Given the description of an element on the screen output the (x, y) to click on. 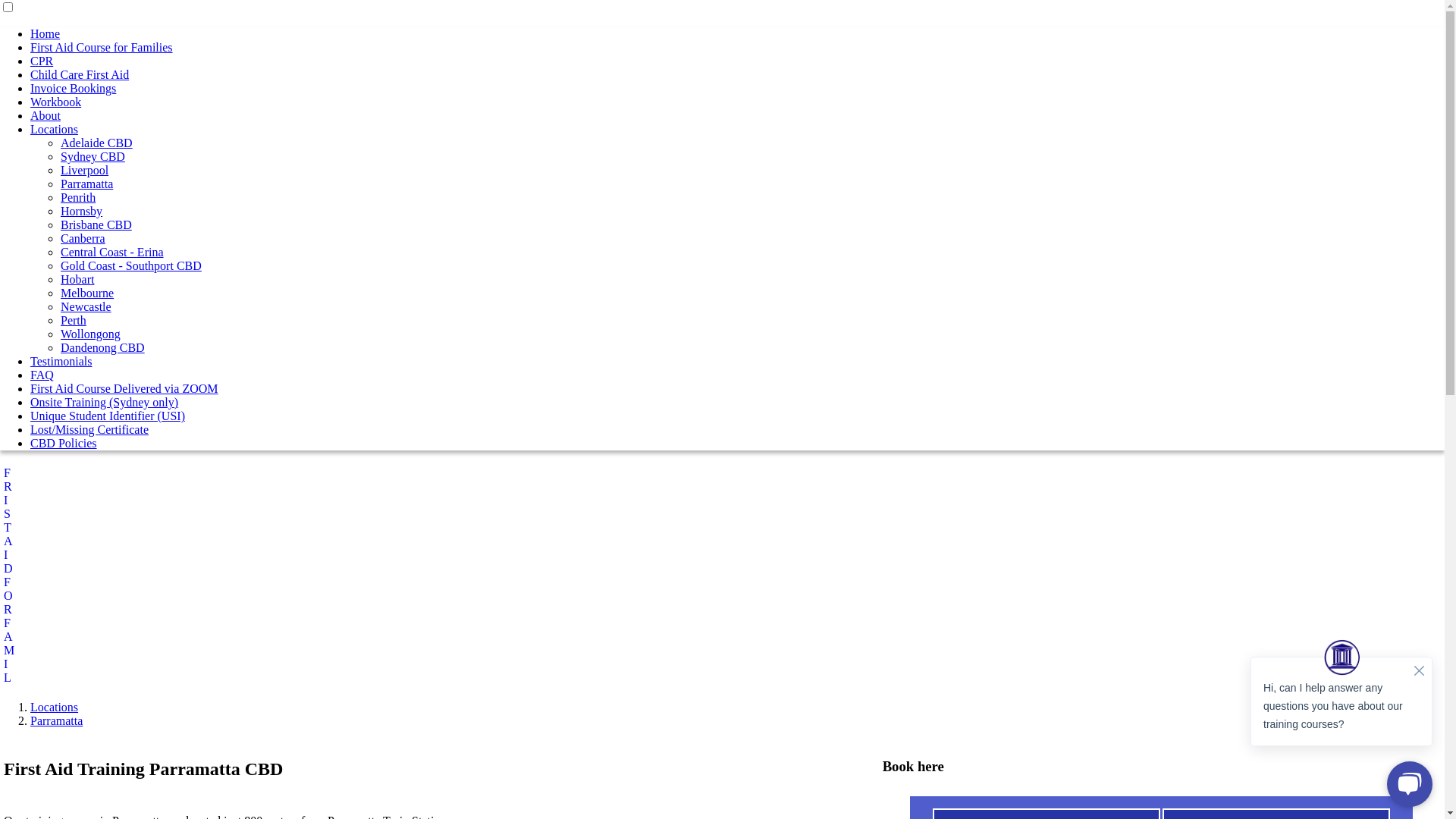
Child Care First Aid Element type: text (79, 74)
CBD Policies Element type: text (63, 442)
Hobart Element type: text (77, 279)
Central Coast - Erina Element type: text (111, 251)
FAQ Element type: text (41, 374)
Liverpool Element type: text (84, 169)
Melbourne Element type: text (86, 292)
Lost/Missing Certificate Element type: text (89, 429)
Testimonials Element type: text (61, 360)
About Element type: text (45, 115)
Newcastle Element type: text (85, 306)
Locations Element type: text (54, 128)
Parramatta Element type: text (56, 720)
Workbook Element type: text (55, 101)
Wollongong Element type: text (90, 333)
First Aid Course for Families Element type: text (101, 46)
Adelaide CBD Element type: text (96, 142)
Brisbane CBD Element type: text (95, 224)
Invoice Bookings Element type: text (73, 87)
Dandenong CBD Element type: text (102, 347)
Hornsby Element type: text (81, 210)
Gold Coast - Southport CBD Element type: text (130, 265)
Locations Element type: text (54, 706)
First Aid Course Delivered via ZOOM Element type: text (124, 388)
Parramatta Element type: text (86, 183)
CPR Element type: text (41, 60)
Onsite Training (Sydney only) Element type: text (104, 401)
Canberra Element type: text (82, 238)
Home Element type: text (44, 33)
Perth Element type: text (73, 319)
F
R
I
S
T
A
I
D
F
O
R
F
A
M
I
L Element type: text (721, 575)
Sydney CBD Element type: text (92, 156)
Unique Student Identifier (USI) Element type: text (107, 415)
Penrith Element type: text (77, 197)
